Given the description of an element on the screen output the (x, y) to click on. 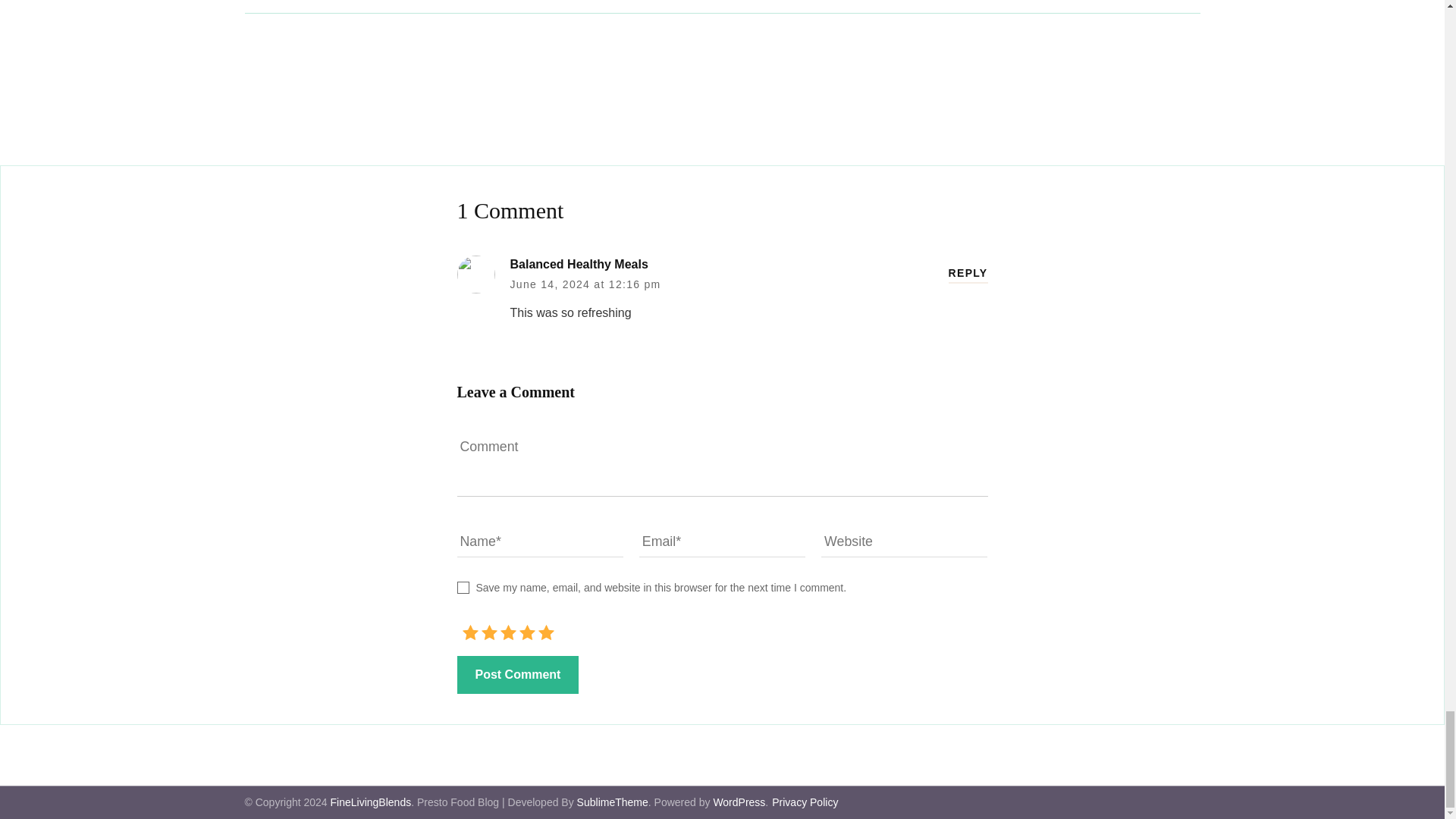
Post Comment (517, 674)
